Given the description of an element on the screen output the (x, y) to click on. 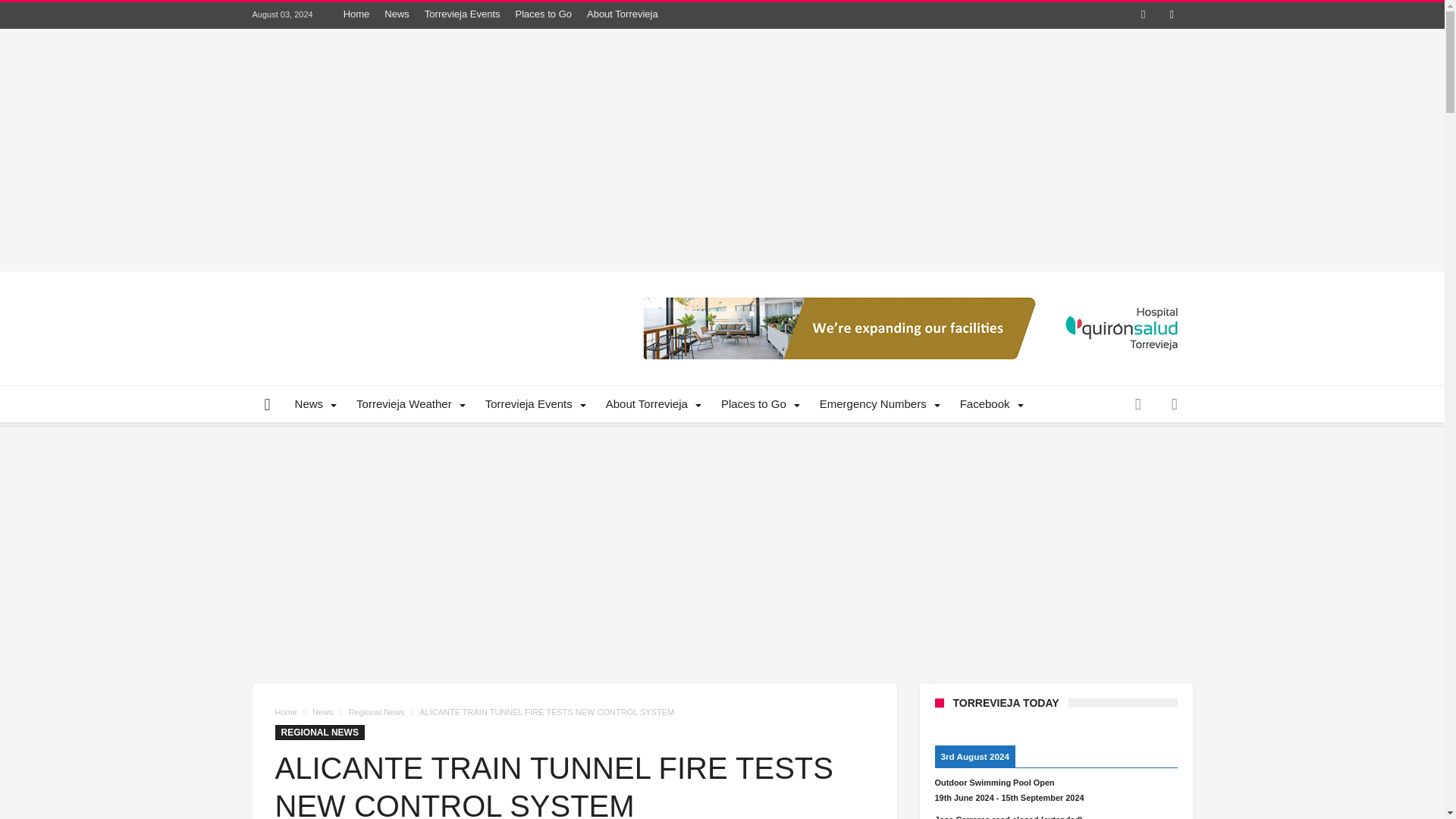
Places to Go (543, 14)
Torrevieja Weather (408, 403)
Twitter (1170, 15)
About Torrevieja (651, 403)
About Torrevieja (622, 14)
Torrevieja weather forecast and live map (408, 403)
Home (356, 14)
Torrevieja Events (462, 14)
News (396, 14)
Facebook (1143, 15)
